Given the description of an element on the screen output the (x, y) to click on. 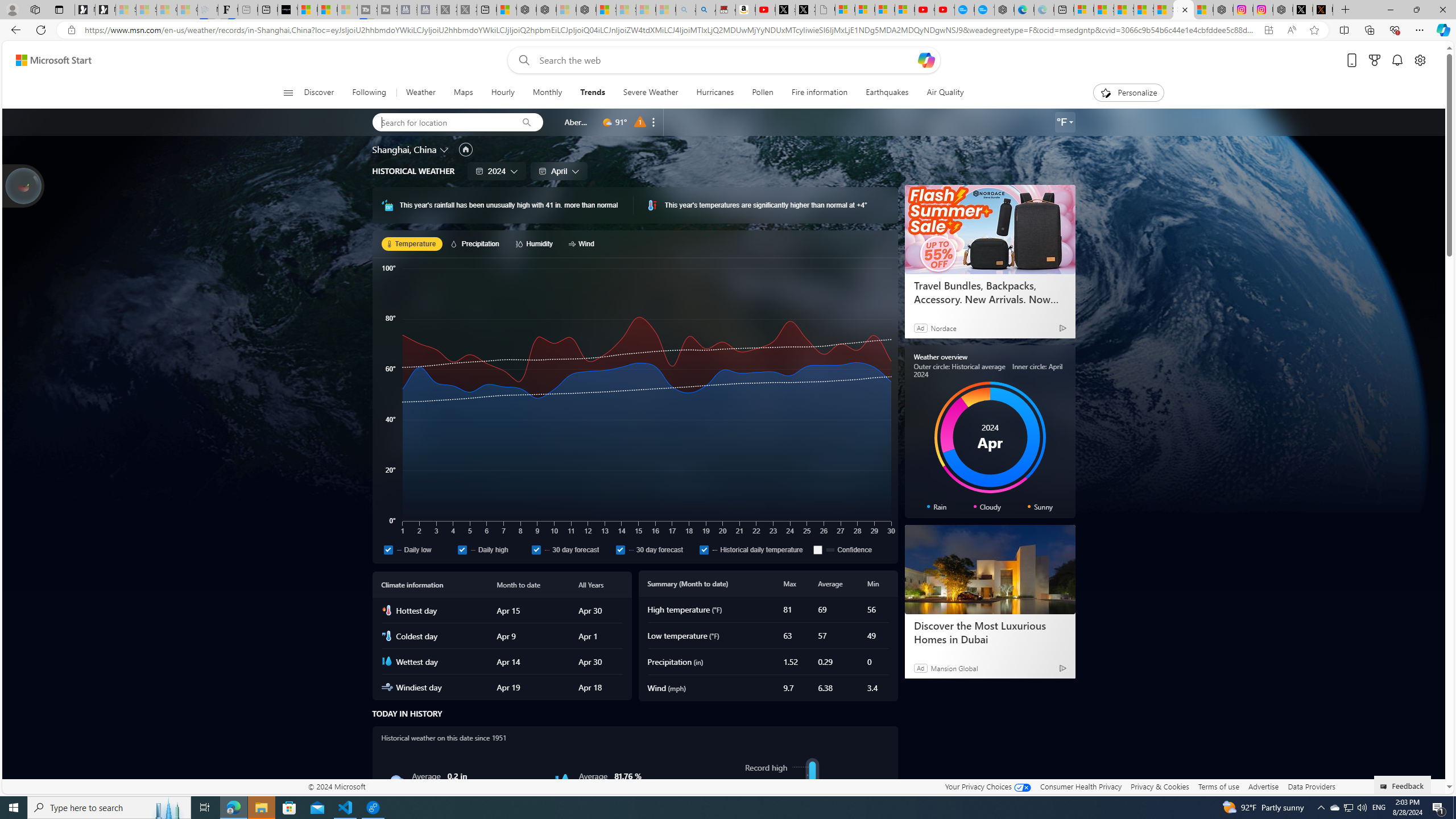
Enter your search term (726, 59)
Hourly (502, 92)
Discover the Most Luxurious Homes in Dubai (989, 569)
App available. Install Microsoft Start Weather (1268, 29)
Hourly (502, 92)
Advertise (1263, 785)
Maps (462, 92)
Shanghai, China hourly forecast | Microsoft Weather (1123, 9)
Open settings (1420, 60)
Confidence (817, 549)
